Given the description of an element on the screen output the (x, y) to click on. 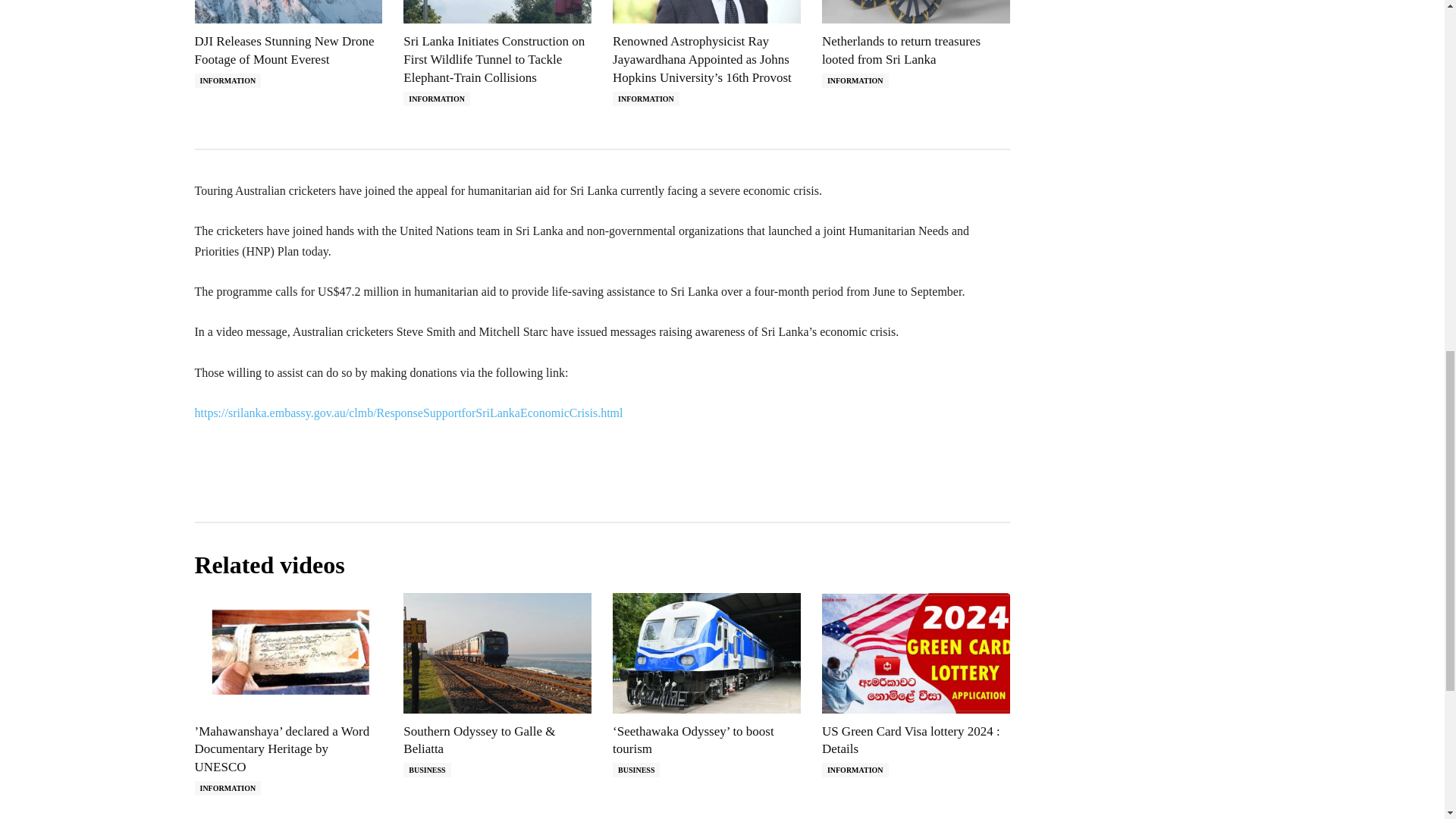
DJI Releases Stunning New Drone Footage of Mount Everest (287, 12)
DJI Releases Stunning New Drone Footage of Mount Everest (283, 50)
